Given the description of an element on the screen output the (x, y) to click on. 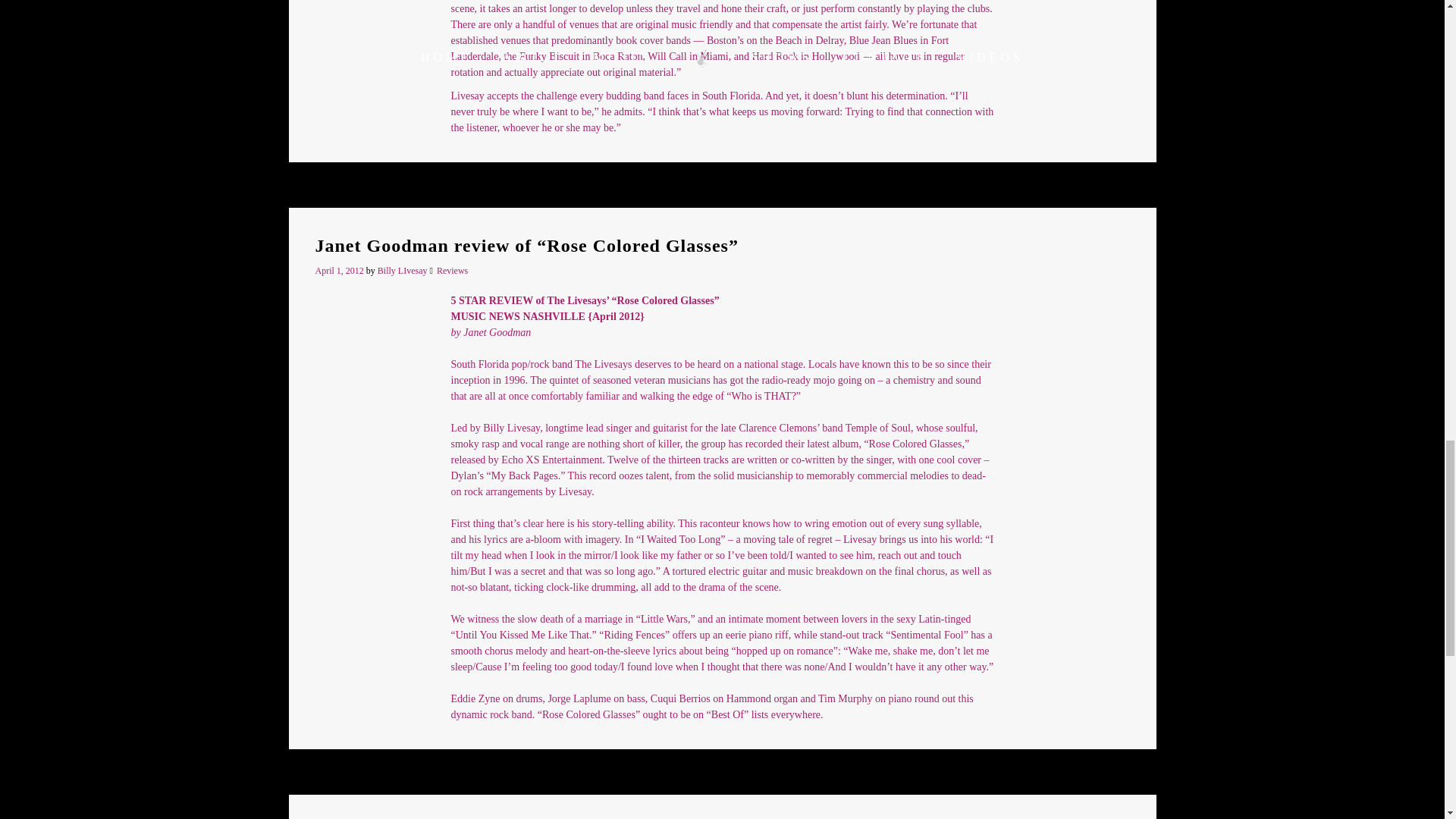
April 1, 2012 (340, 270)
Reviews (451, 269)
Billy LIvesay (402, 270)
